Given the description of an element on the screen output the (x, y) to click on. 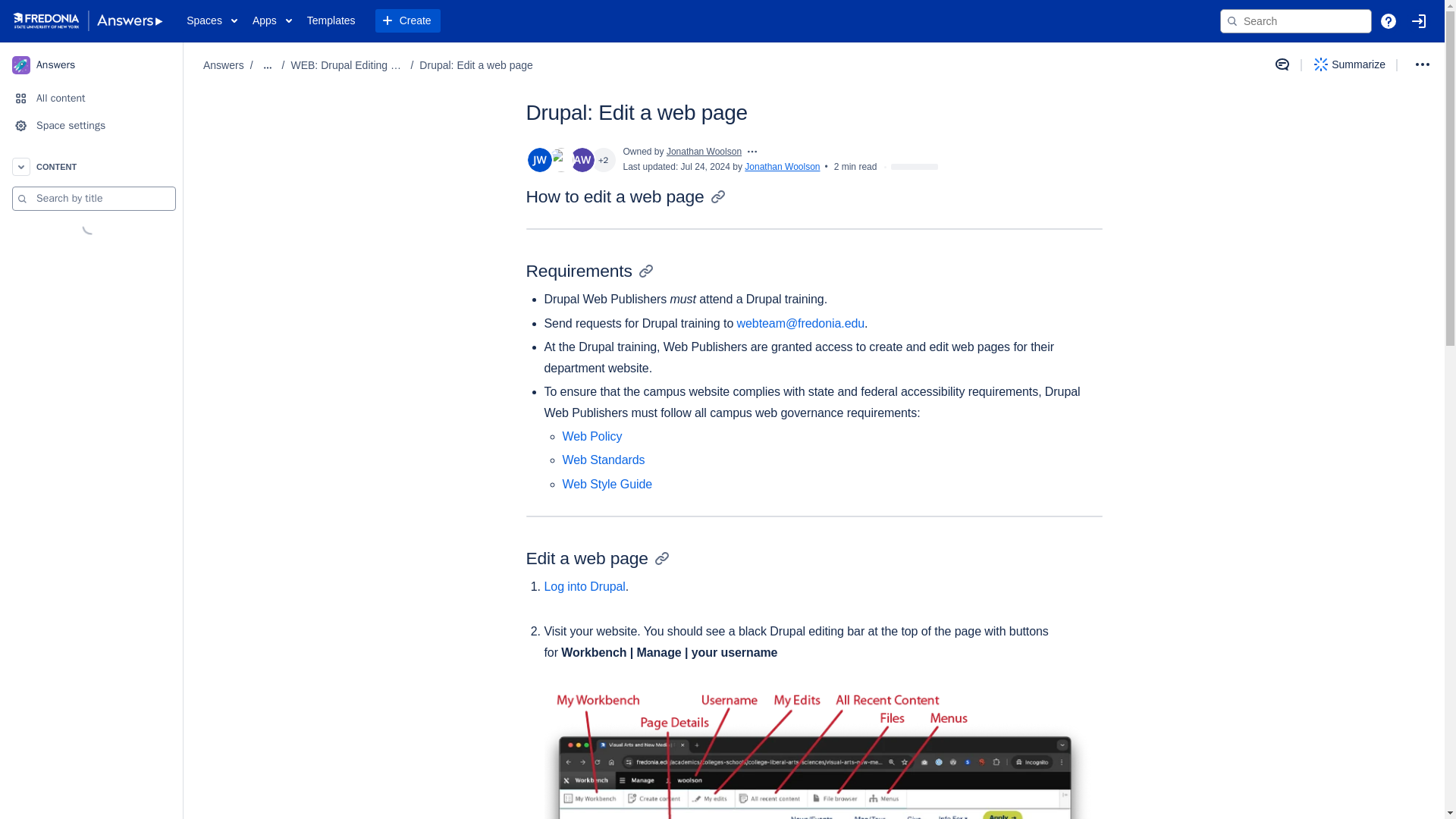
Web Style Guide (607, 483)
Answers (90, 64)
Space settings (90, 125)
Answers (223, 64)
Templates (330, 21)
Jul 24, 2024 (705, 166)
Apps (272, 21)
Web Standards (603, 459)
Web Policy (592, 436)
WEB: Drupal Editing Help (346, 64)
